Given the description of an element on the screen output the (x, y) to click on. 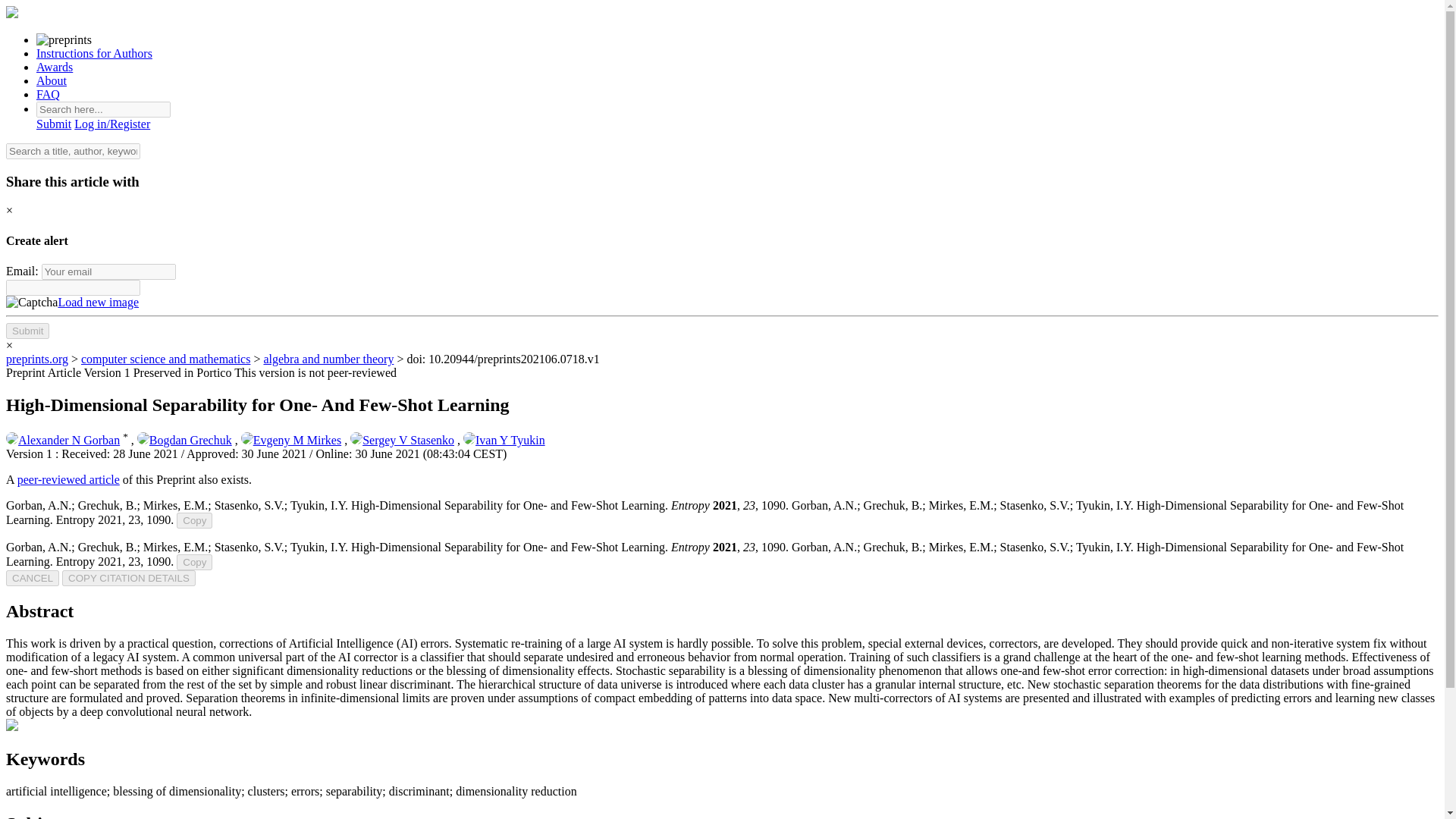
Ivan Y Tyukin (503, 440)
CANCEL (32, 578)
Load new image (98, 301)
Sergey V Stasenko (402, 440)
About (51, 80)
Copy (194, 520)
FAQ (47, 93)
preprints.org (36, 358)
Awards (54, 66)
Copy (194, 562)
Bogdan Grechuk (183, 440)
Alexander N Gorban (62, 440)
computer science and mathematics (165, 358)
Instructions for Authors (94, 52)
Submit (53, 123)
